Given the description of an element on the screen output the (x, y) to click on. 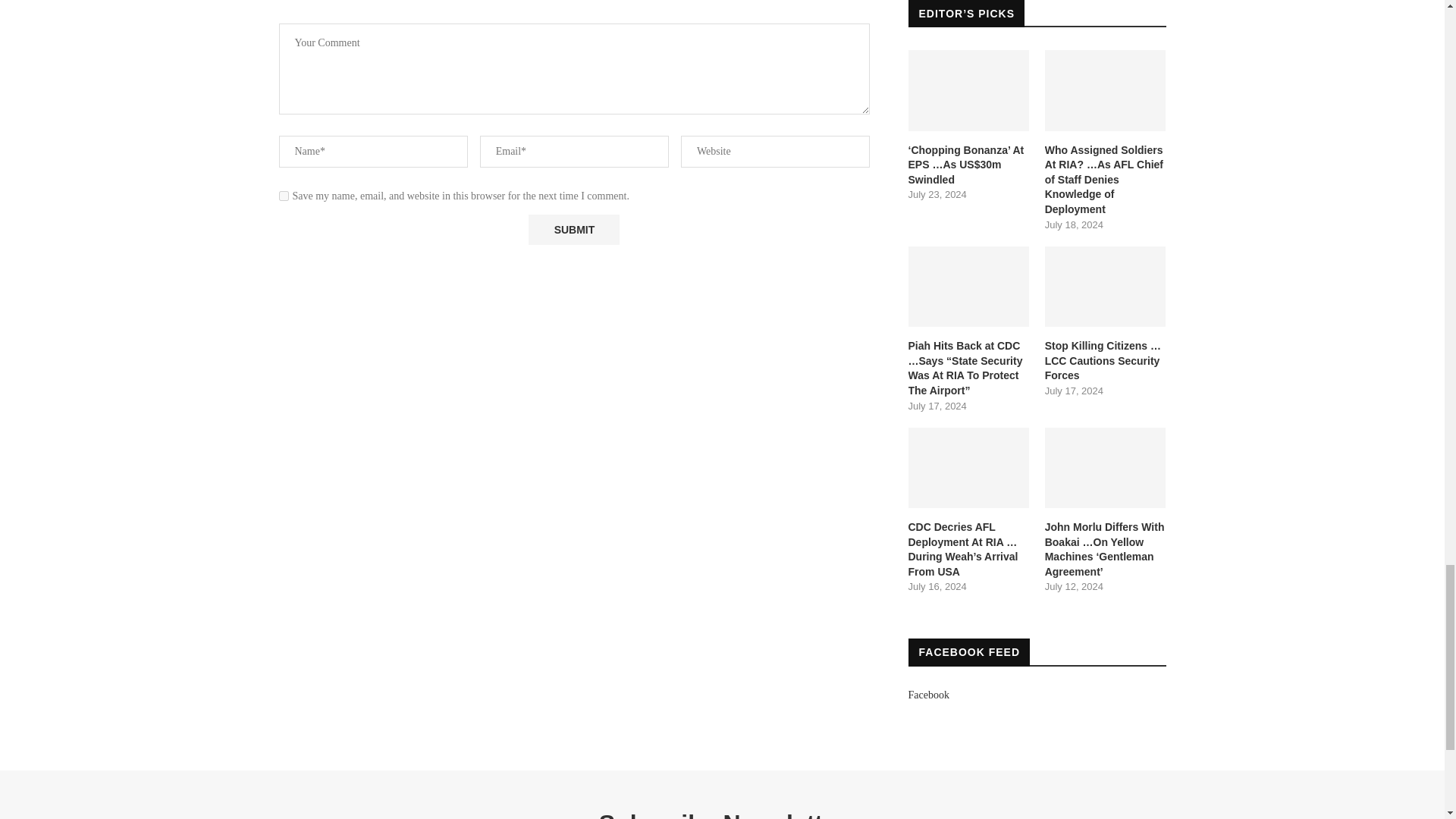
yes (283, 195)
Submit (574, 229)
